Given the description of an element on the screen output the (x, y) to click on. 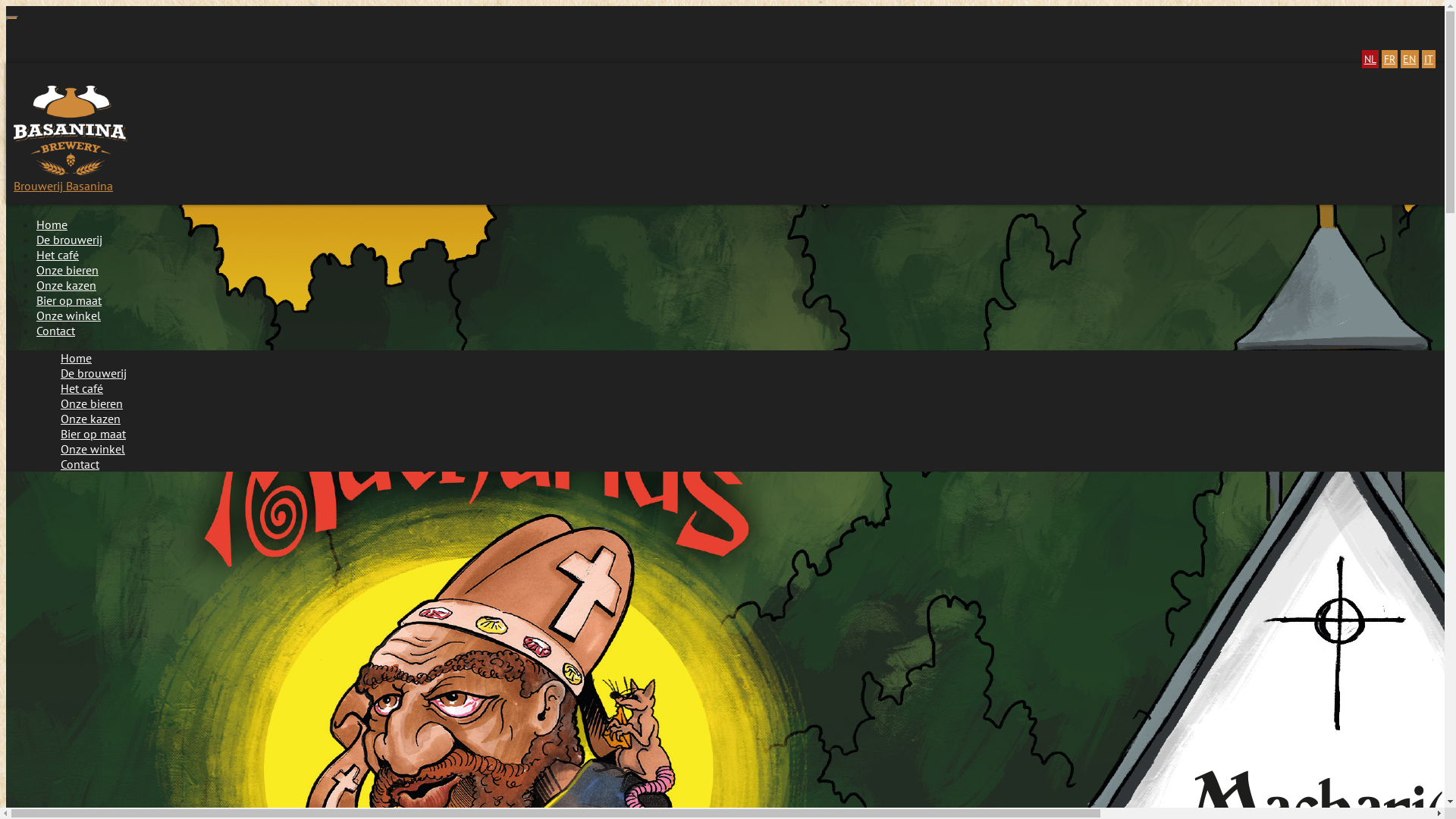
Bier op maat Element type: text (96, 433)
De brouwerij Element type: text (72, 239)
Contact Element type: text (59, 330)
De brouwerij Element type: text (97, 372)
Onze bieren Element type: text (95, 403)
Bier op maat Element type: text (72, 299)
Onze winkel Element type: text (72, 315)
EN Element type: text (1409, 59)
Home Element type: text (55, 224)
Home Element type: text (79, 357)
Brouwerij Basanina Element type: text (728, 133)
Onze winkel Element type: text (96, 448)
Onze kazen Element type: text (69, 284)
FR Element type: text (1389, 59)
Onze bieren Element type: text (71, 269)
Contact Element type: text (83, 463)
Onze kazen Element type: text (94, 418)
IT Element type: text (1428, 59)
NL Element type: text (1369, 59)
